Given the description of an element on the screen output the (x, y) to click on. 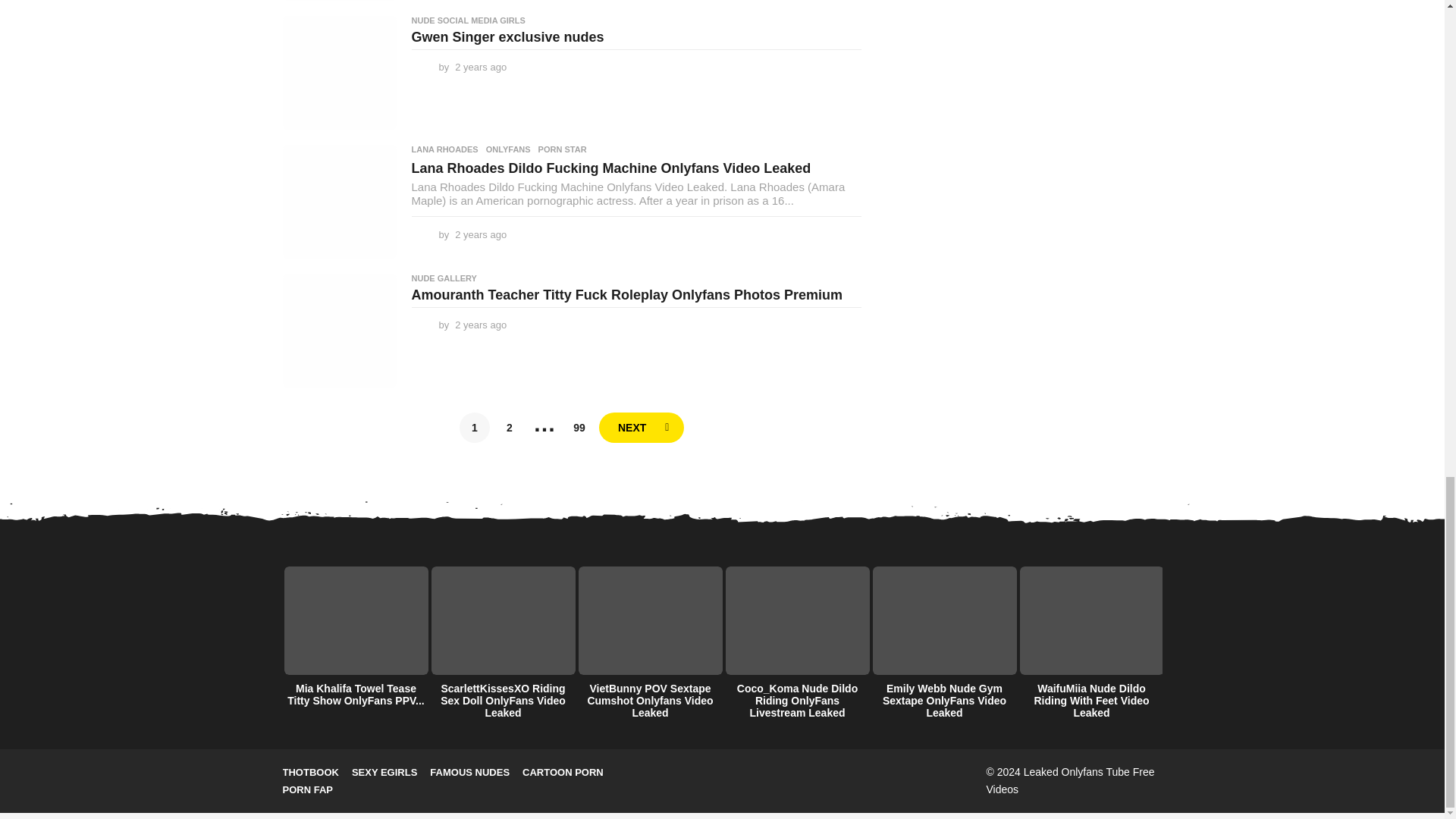
Gwen Singer exclusive nudes (339, 72)
Lana Rhoades Dildo Fucking Machine Onlyfans Video Leaked (339, 201)
